Given the description of an element on the screen output the (x, y) to click on. 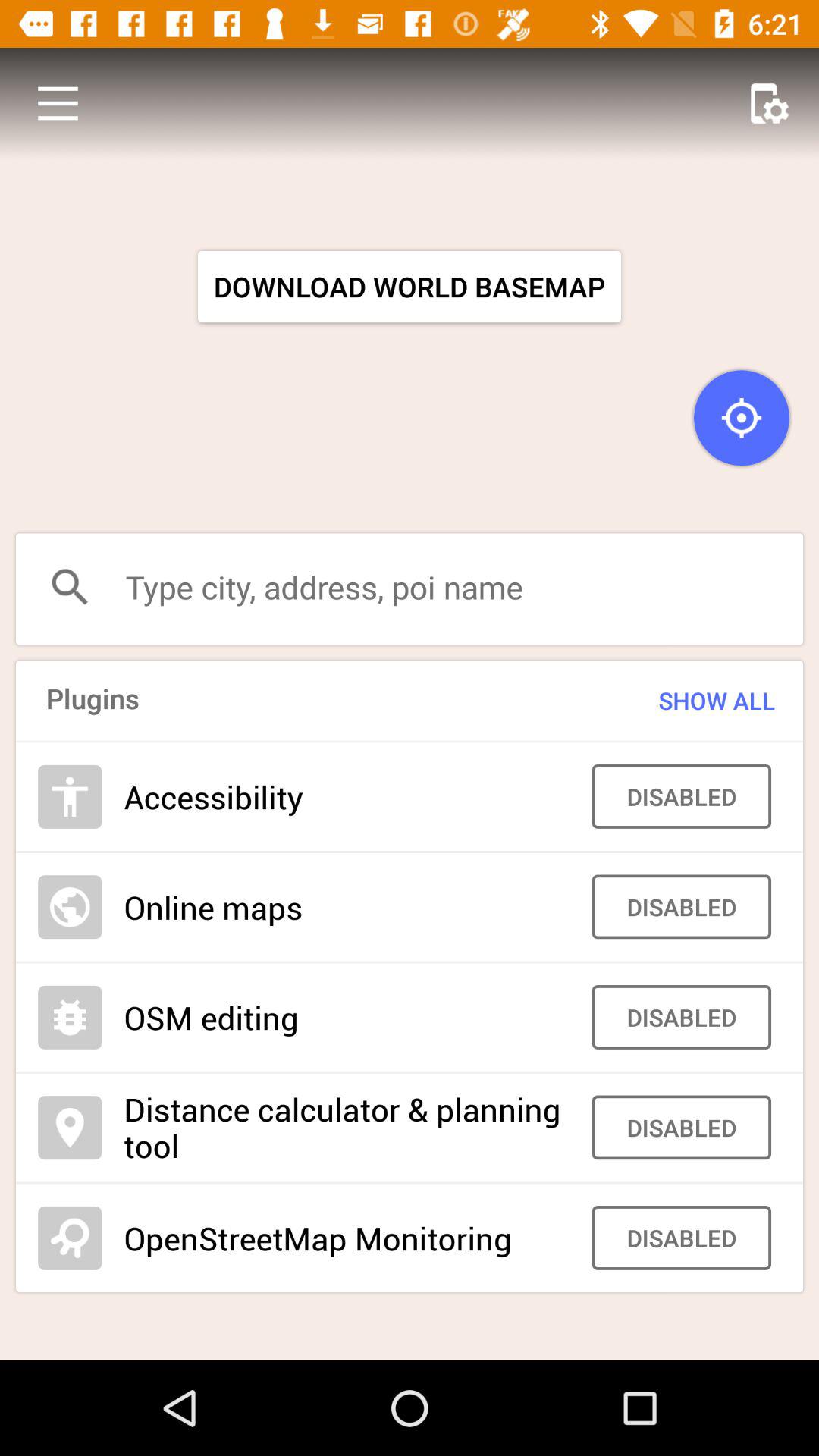
open item to the right of the plugins icon (687, 700)
